Given the description of an element on the screen output the (x, y) to click on. 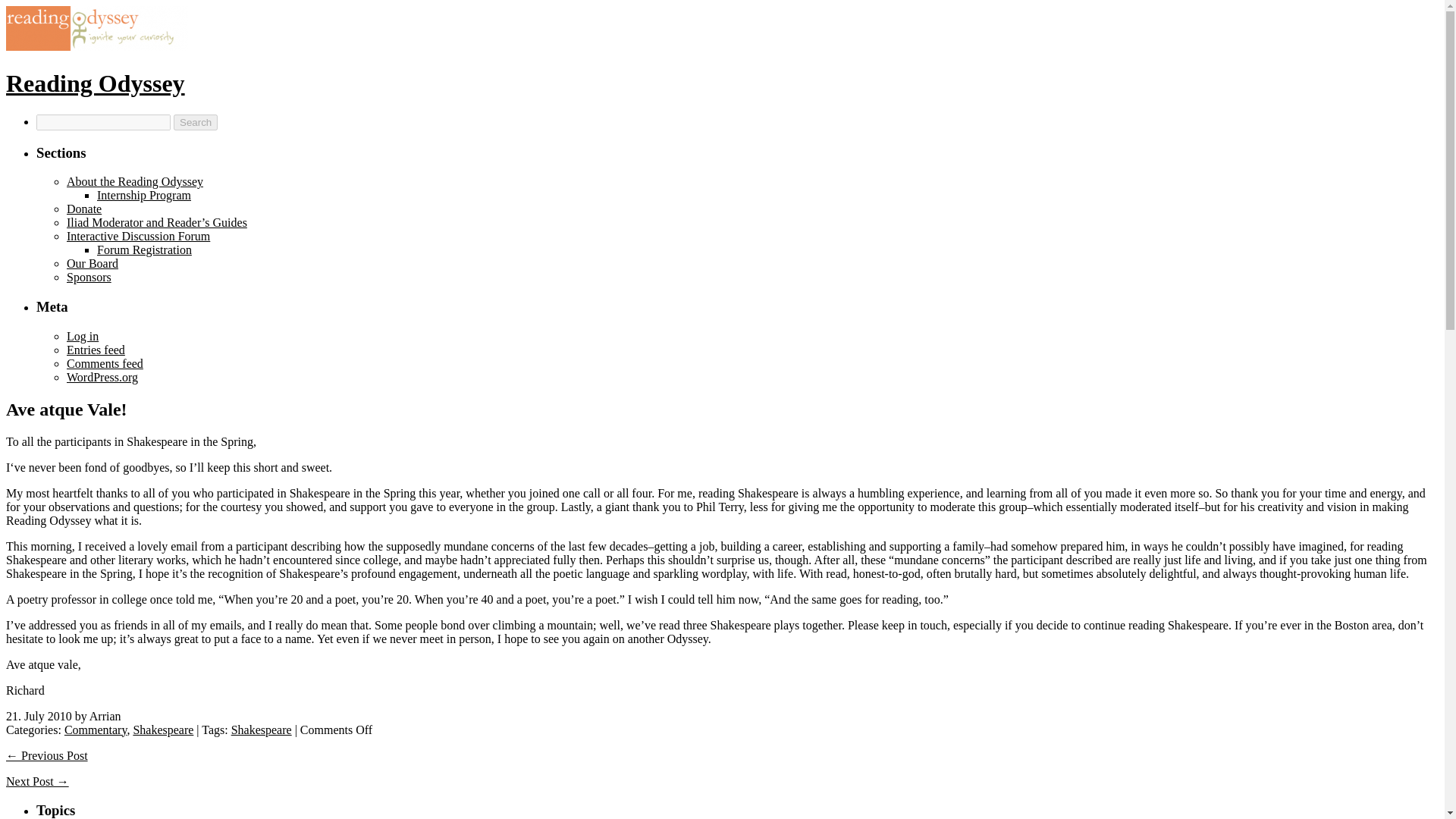
Reading Odyssey (94, 83)
Shakespeare (261, 729)
Search (194, 122)
Sponsors (89, 277)
Reading Odyssey (94, 83)
Comments feed (104, 363)
Forum Registration (144, 249)
Donate (83, 208)
Search (194, 122)
Log in (82, 336)
